Given the description of an element on the screen output the (x, y) to click on. 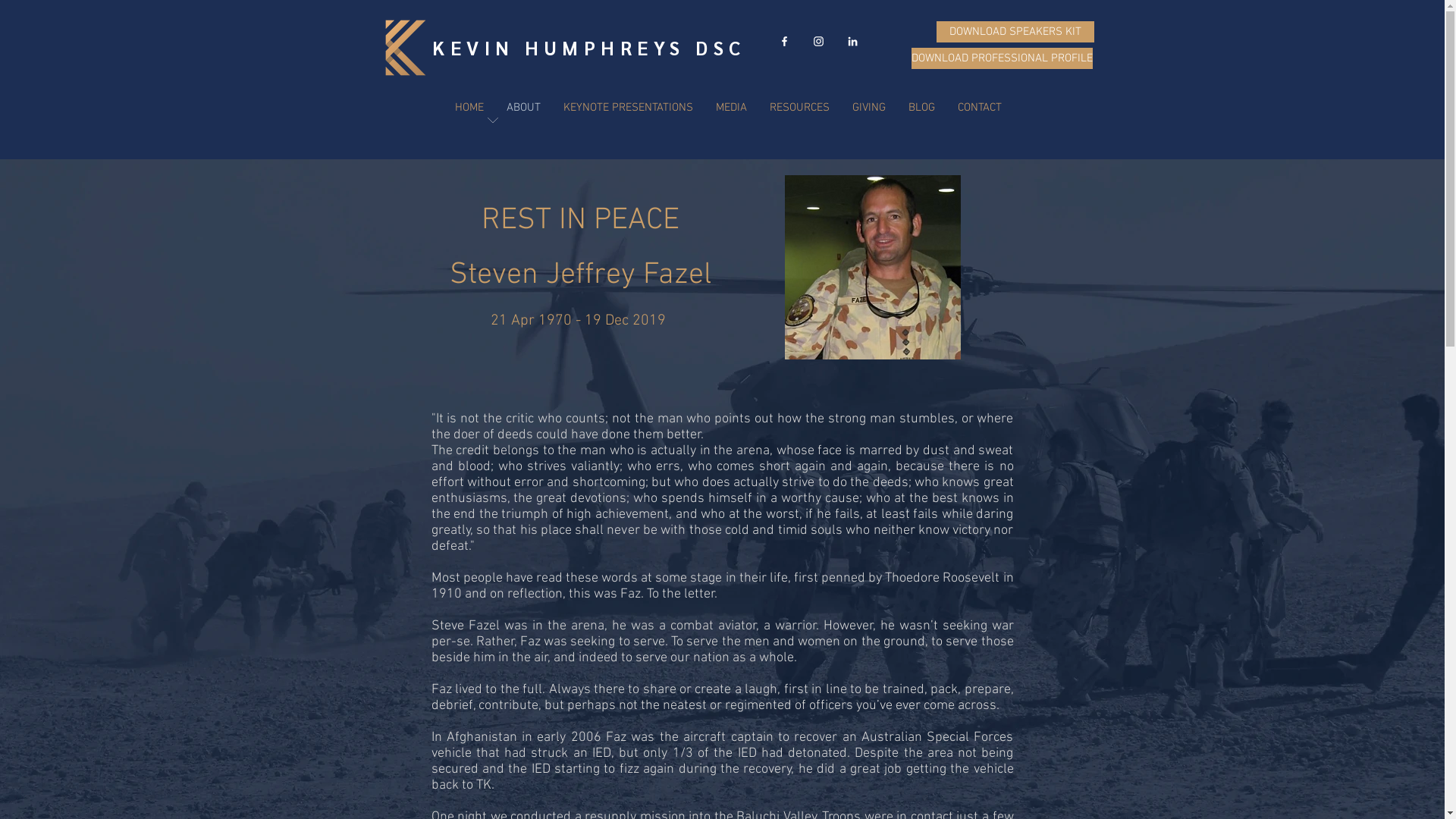
Kevin-Humphreys-favicon.png Element type: hover (405, 47)
DOWNLOAD PROFESSIONAL PROFILE Element type: text (1001, 58)
RESOURCES Element type: text (799, 107)
HOME Element type: text (468, 107)
BLOG Element type: text (920, 107)
CONTACT Element type: text (979, 107)
ABOUT Element type: text (522, 107)
GIVING Element type: text (868, 107)
KEYNOTE PRESENTATIONS Element type: text (628, 107)
DOWNLOAD SPEAKERS KIT Element type: text (1014, 31)
MEDIA Element type: text (730, 107)
